Given the description of an element on the screen output the (x, y) to click on. 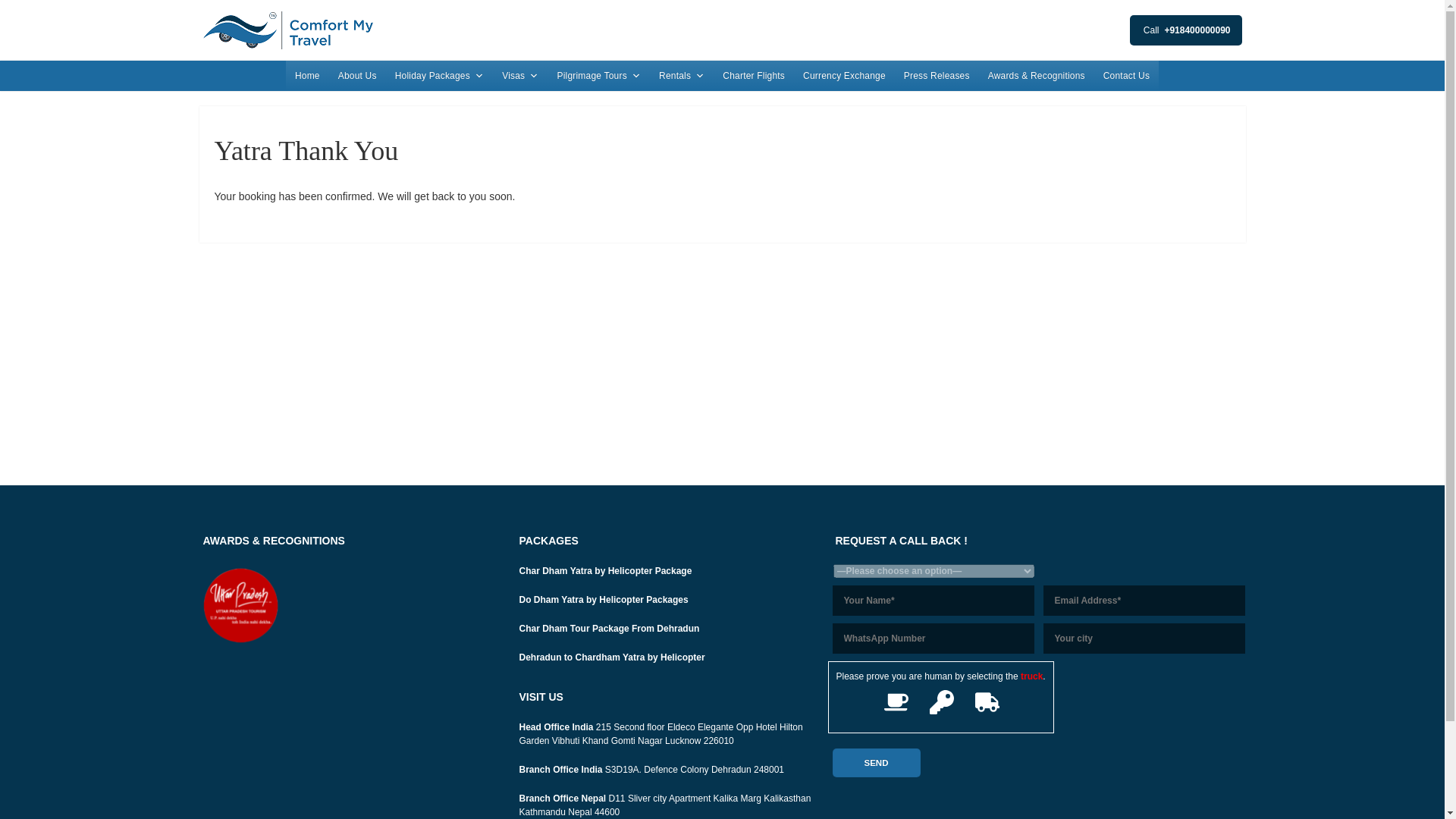
Home (307, 75)
Holiday Packages (439, 75)
Visas (520, 75)
Pilgrimage Tours (598, 75)
About Us (357, 75)
Send (876, 762)
Rentals (681, 75)
